Given the description of an element on the screen output the (x, y) to click on. 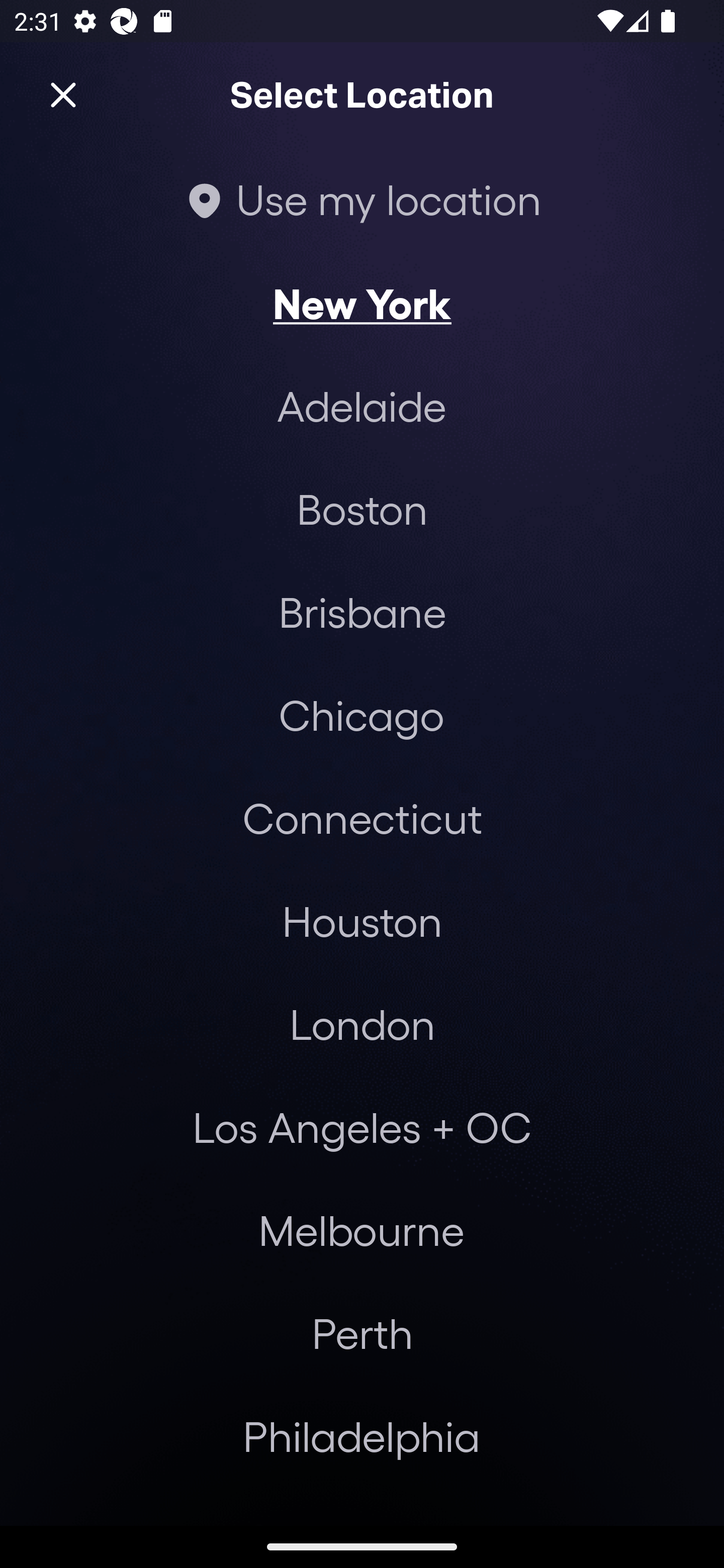
Close (62, 95)
   Use my location (362, 198)
New York (361, 302)
Adelaide (361, 405)
Boston (361, 508)
Brisbane (361, 611)
Chicago (361, 714)
Connecticut (361, 817)
Houston (361, 920)
London (361, 1023)
Los Angeles + OC (361, 1127)
Melbourne (361, 1230)
Perth (361, 1332)
Philadelphia (361, 1436)
